Given the description of an element on the screen output the (x, y) to click on. 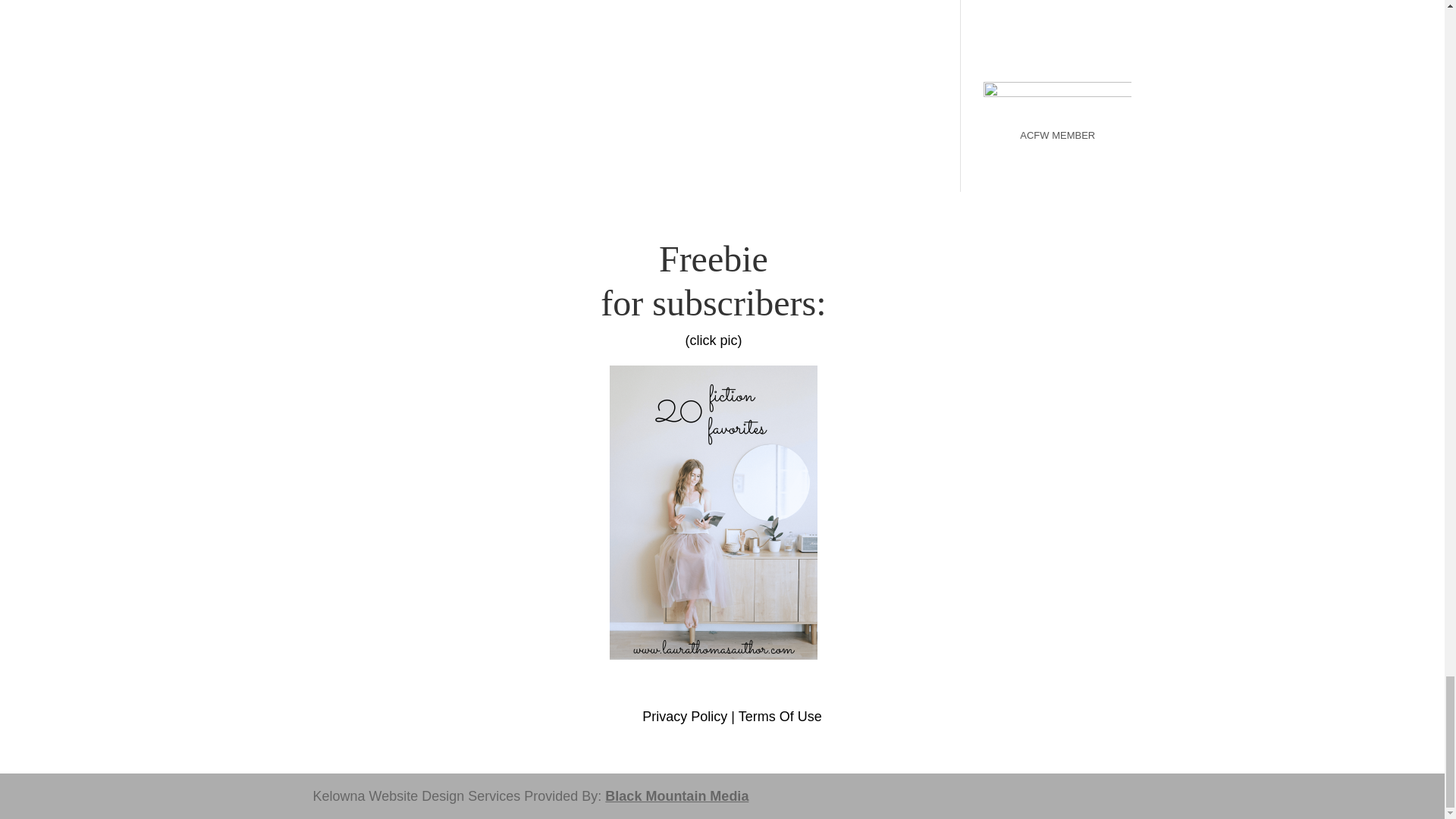
kelowna website designer (676, 795)
